Given the description of an element on the screen output the (x, y) to click on. 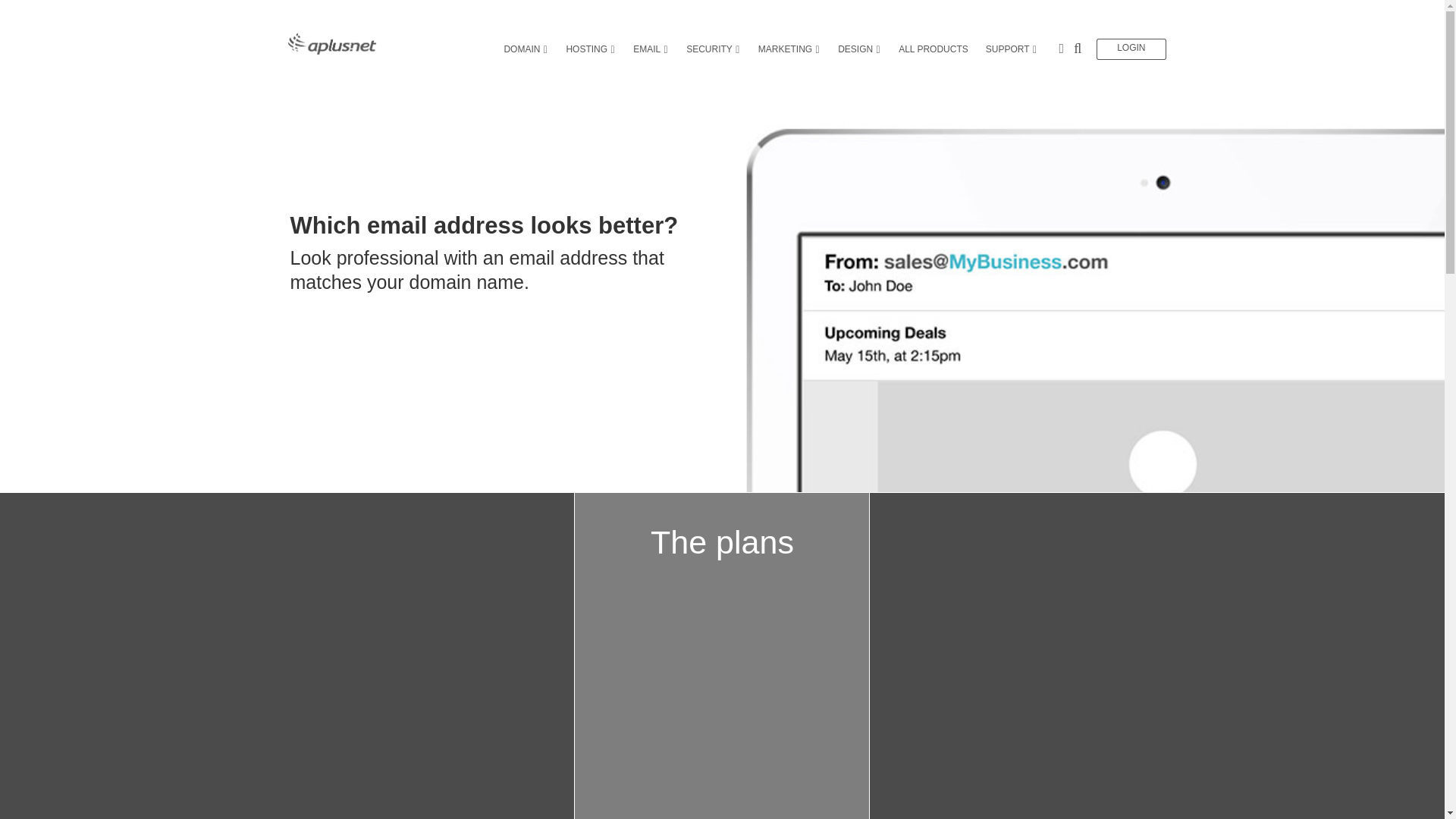
Domain Privacy (525, 161)
